Given the description of an element on the screen output the (x, y) to click on. 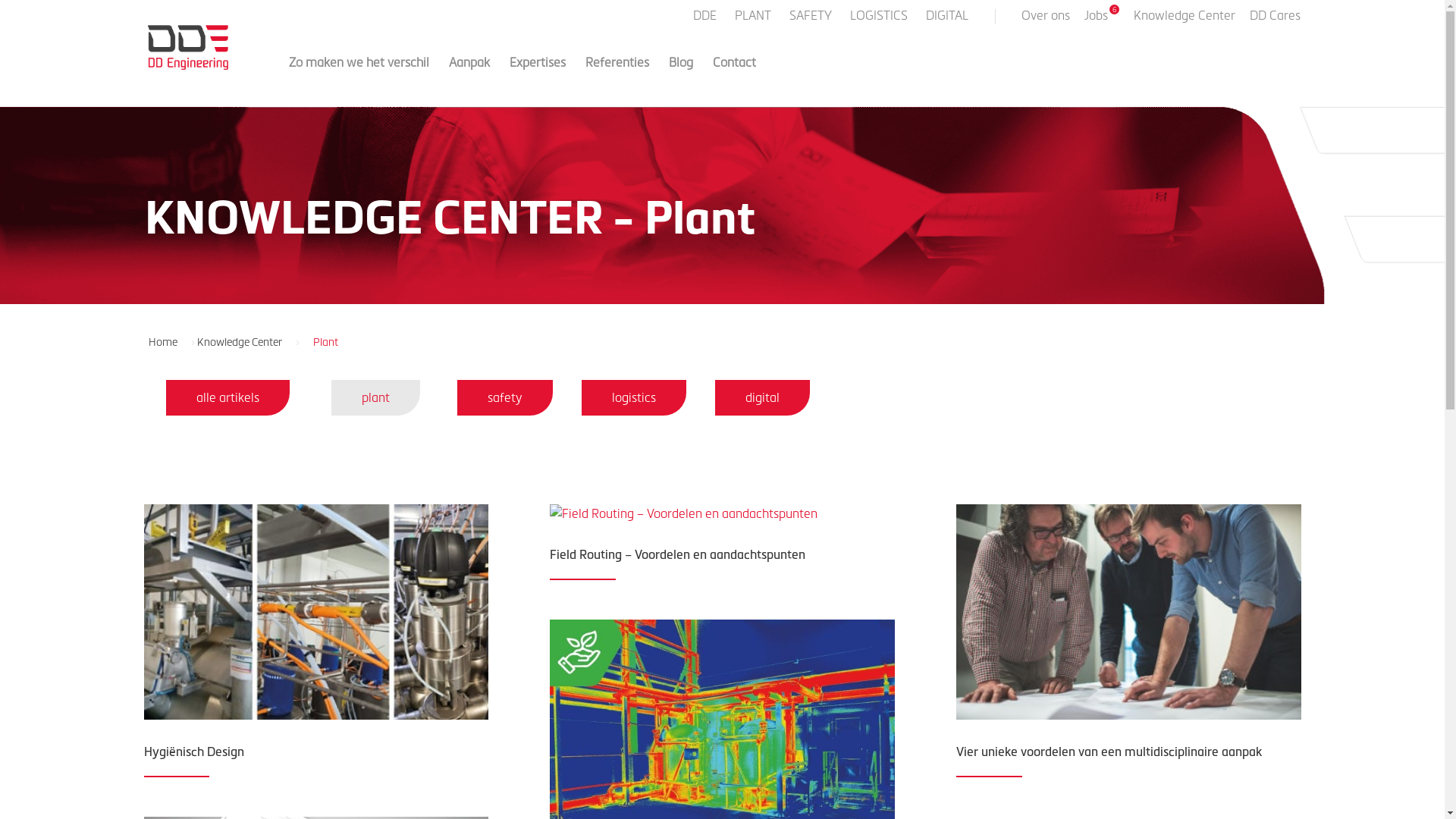
PLANT Element type: text (754, 19)
Knowledge Center Element type: text (245, 341)
Zo maken we het verschil Element type: text (358, 75)
logistics Element type: text (632, 397)
Knowledge Center Element type: text (1183, 19)
DIGITAL Element type: text (948, 19)
Jobs Element type: text (1101, 20)
safety Element type: text (504, 397)
DDE Element type: text (706, 19)
Over ons Element type: text (1044, 19)
Vier unieke voordelen van een multidisciplinaire aanpak Element type: text (1108, 751)
digital Element type: text (762, 397)
Blog Element type: text (680, 75)
Referenties Element type: text (617, 75)
LOGISTICS Element type: text (879, 19)
alle artikels Element type: text (227, 397)
Expertises Element type: text (537, 75)
Home Element type: text (168, 341)
Aanpak Element type: text (468, 75)
plant Element type: text (375, 397)
SAFETY Element type: text (811, 19)
DD Cares Element type: text (1274, 19)
Contact Element type: text (734, 75)
